Given the description of an element on the screen output the (x, y) to click on. 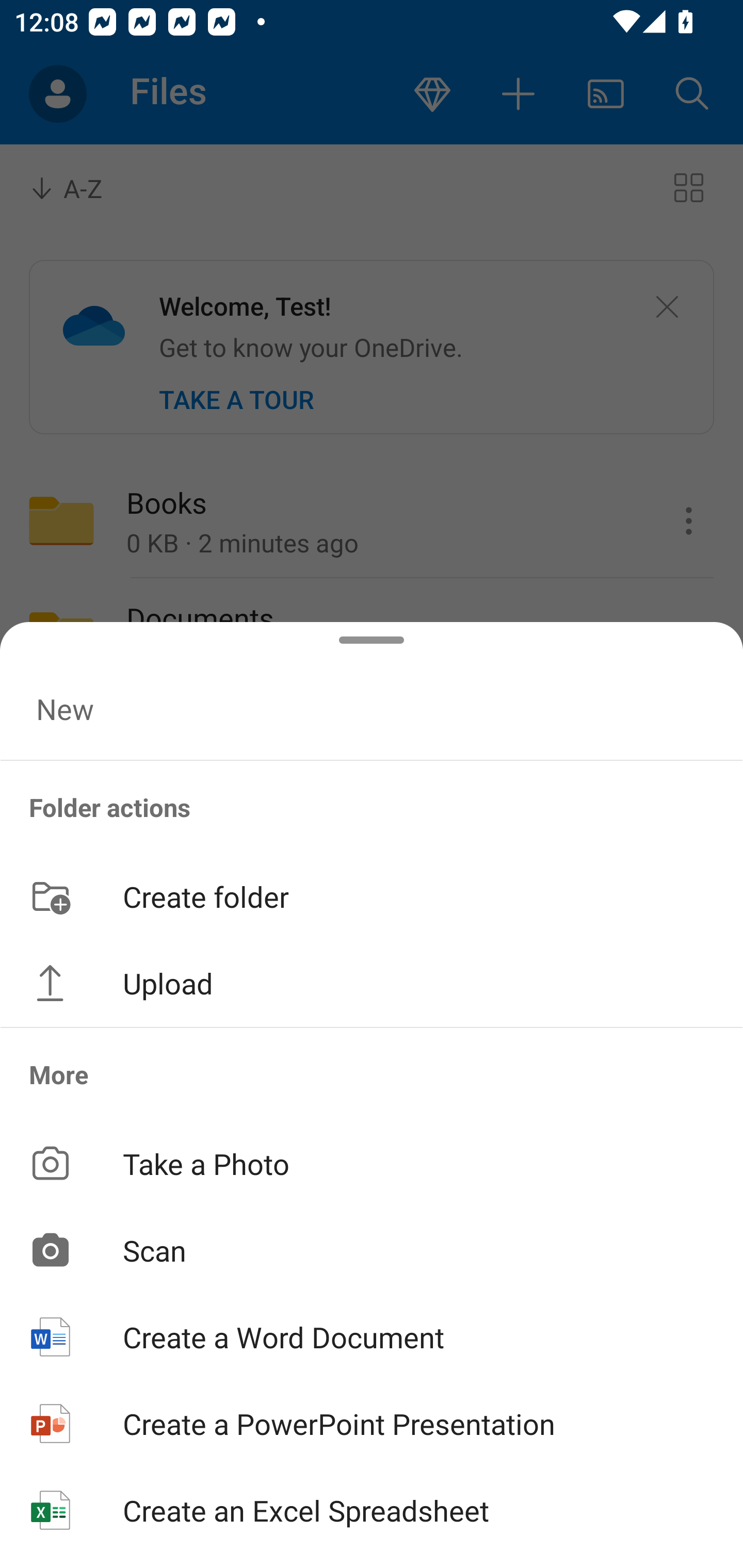
Create folder button Create folder (371, 895)
Upload button Upload (371, 983)
Take a Photo button Take a Photo (371, 1163)
Scan button Scan (371, 1250)
